Given the description of an element on the screen output the (x, y) to click on. 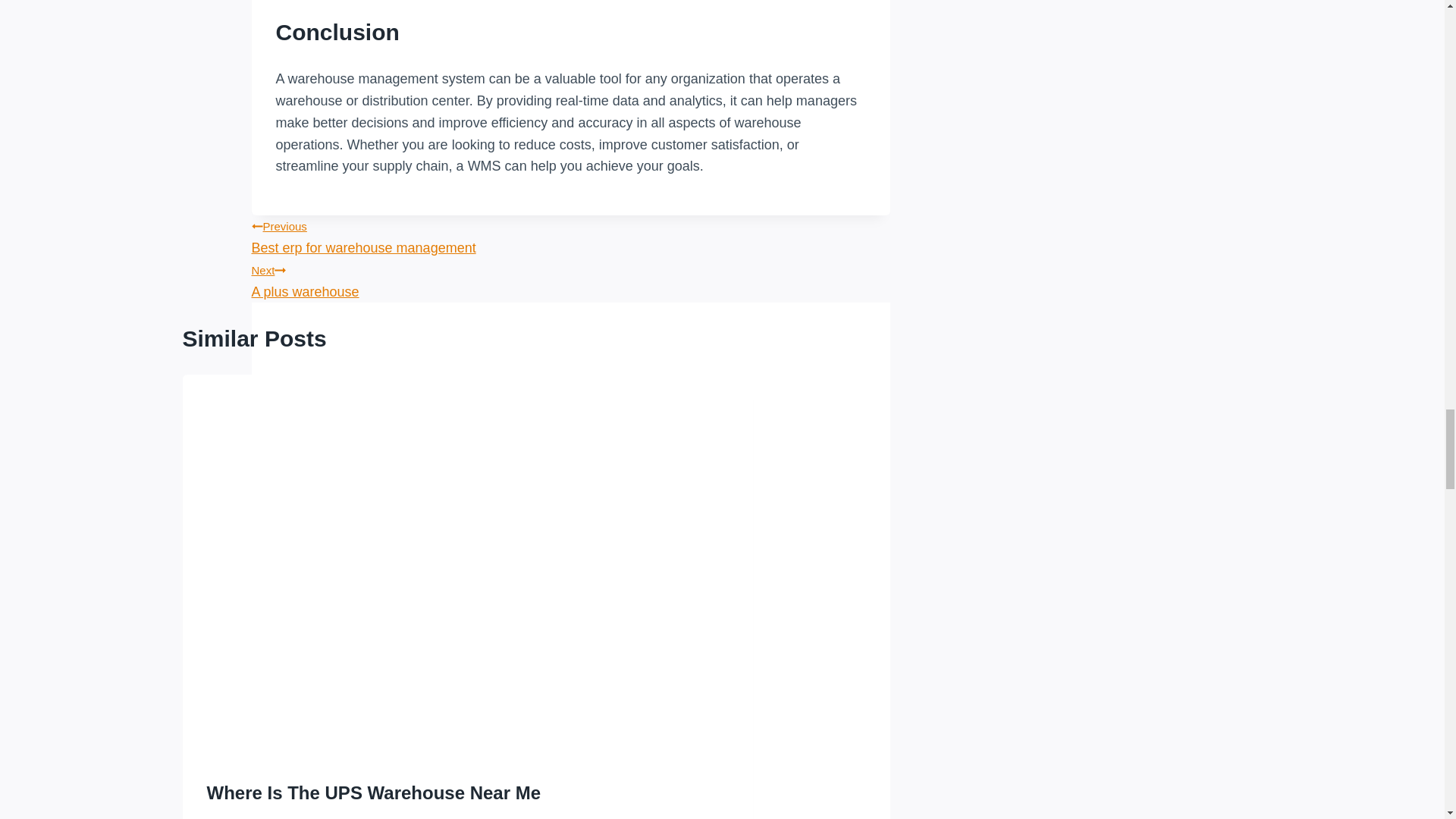
Where Is The UPS Warehouse Near Me (373, 792)
